Given the description of an element on the screen output the (x, y) to click on. 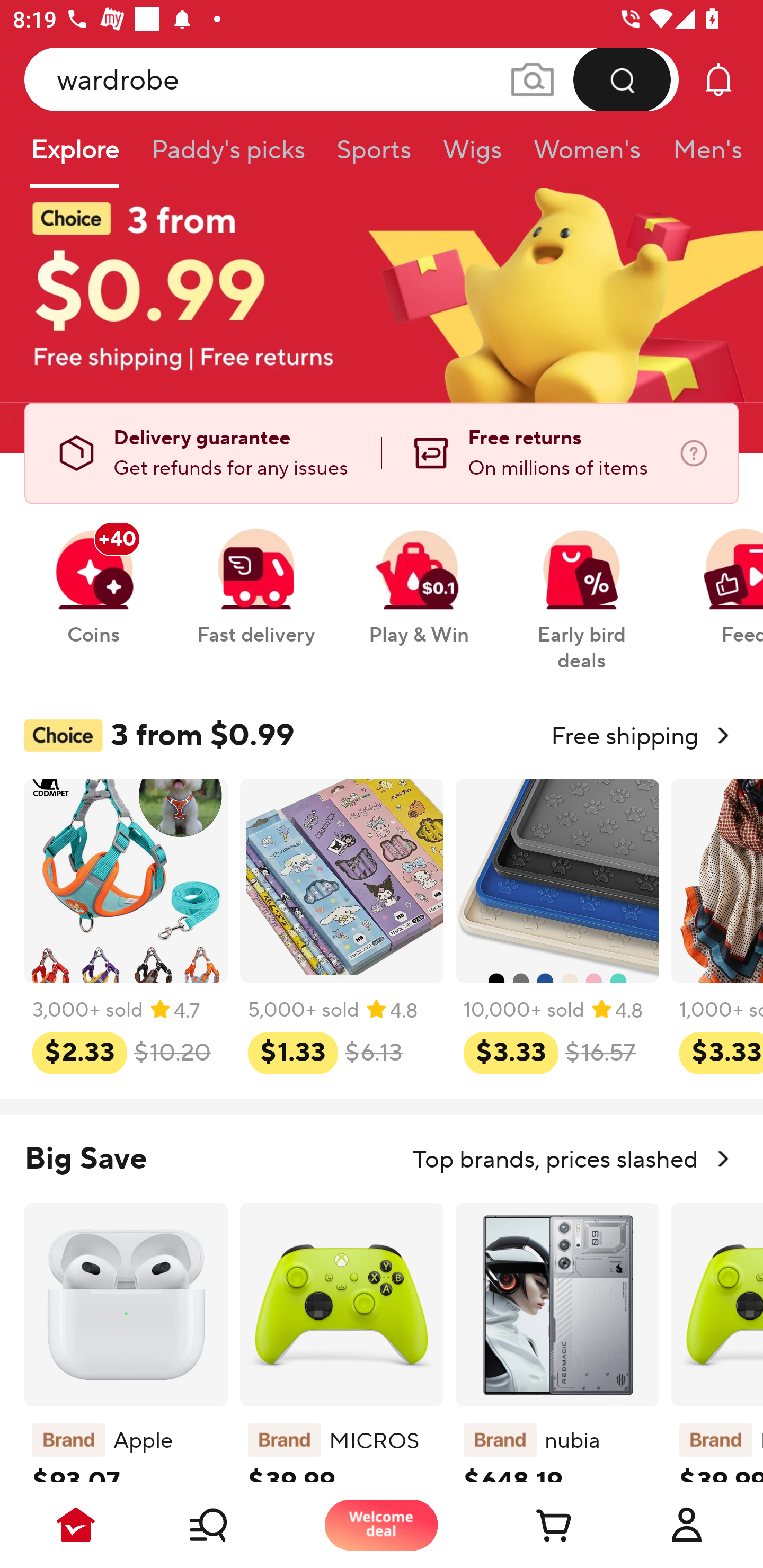
wardrobe (351, 79)
Paddy's picks (227, 155)
Sports (373, 155)
Wigs (472, 155)
Women's (586, 155)
Men's (701, 155)
Coinsbutton +40 Coins (93, 576)
Fast deliverybutton Fast delivery (255, 576)
Play & Winbutton Play & Win (418, 576)
Early bird dealsbutton Early bird deals (581, 589)
Feedbutton Feed (719, 576)
Shop (228, 1524)
Cart (533, 1524)
Account (686, 1524)
